Given the description of an element on the screen output the (x, y) to click on. 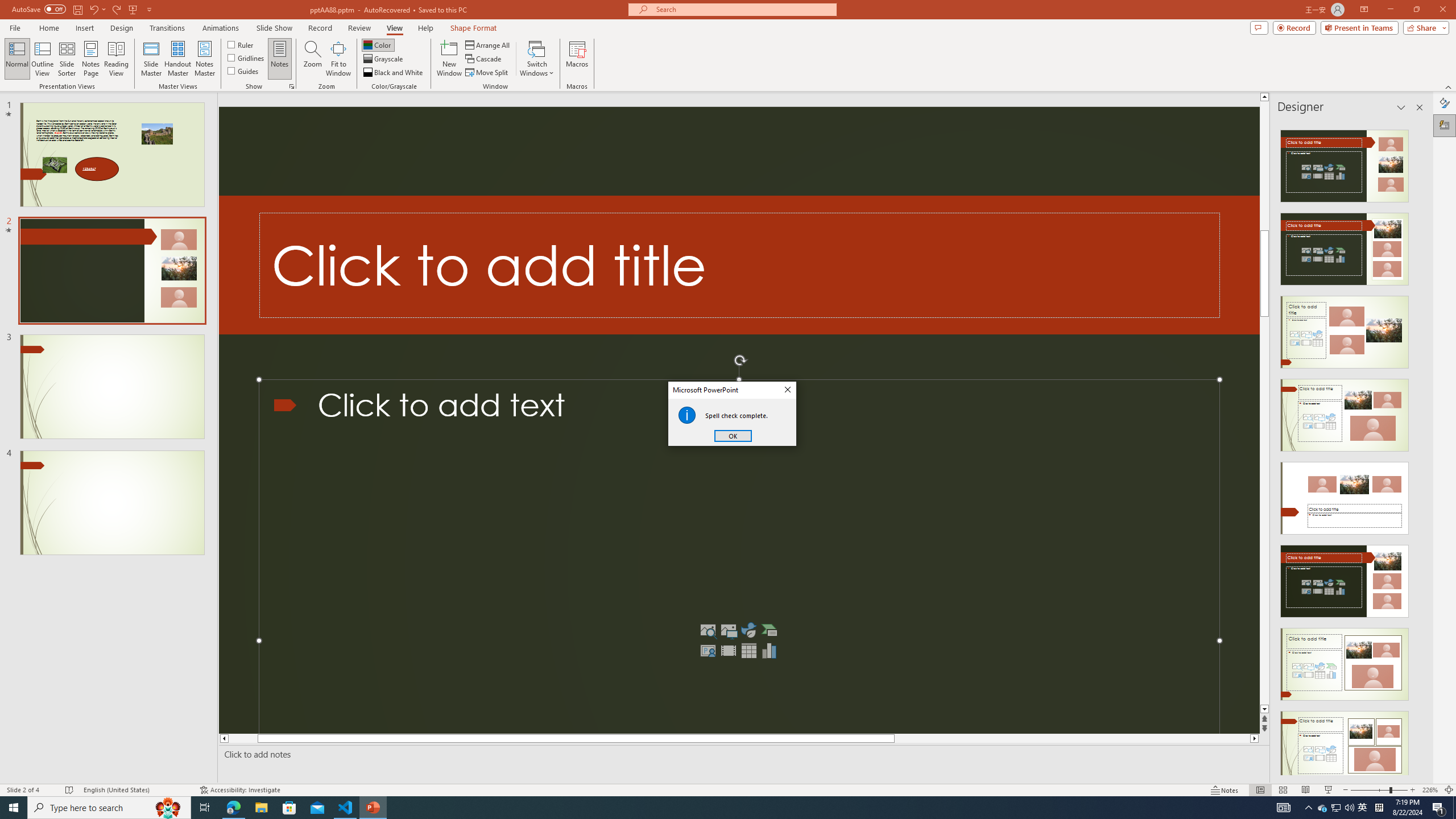
Decorative Locked (738, 264)
Class: Static (686, 415)
Notes (279, 58)
Zoom 226% (1430, 790)
Design Idea (1344, 743)
